Given the description of an element on the screen output the (x, y) to click on. 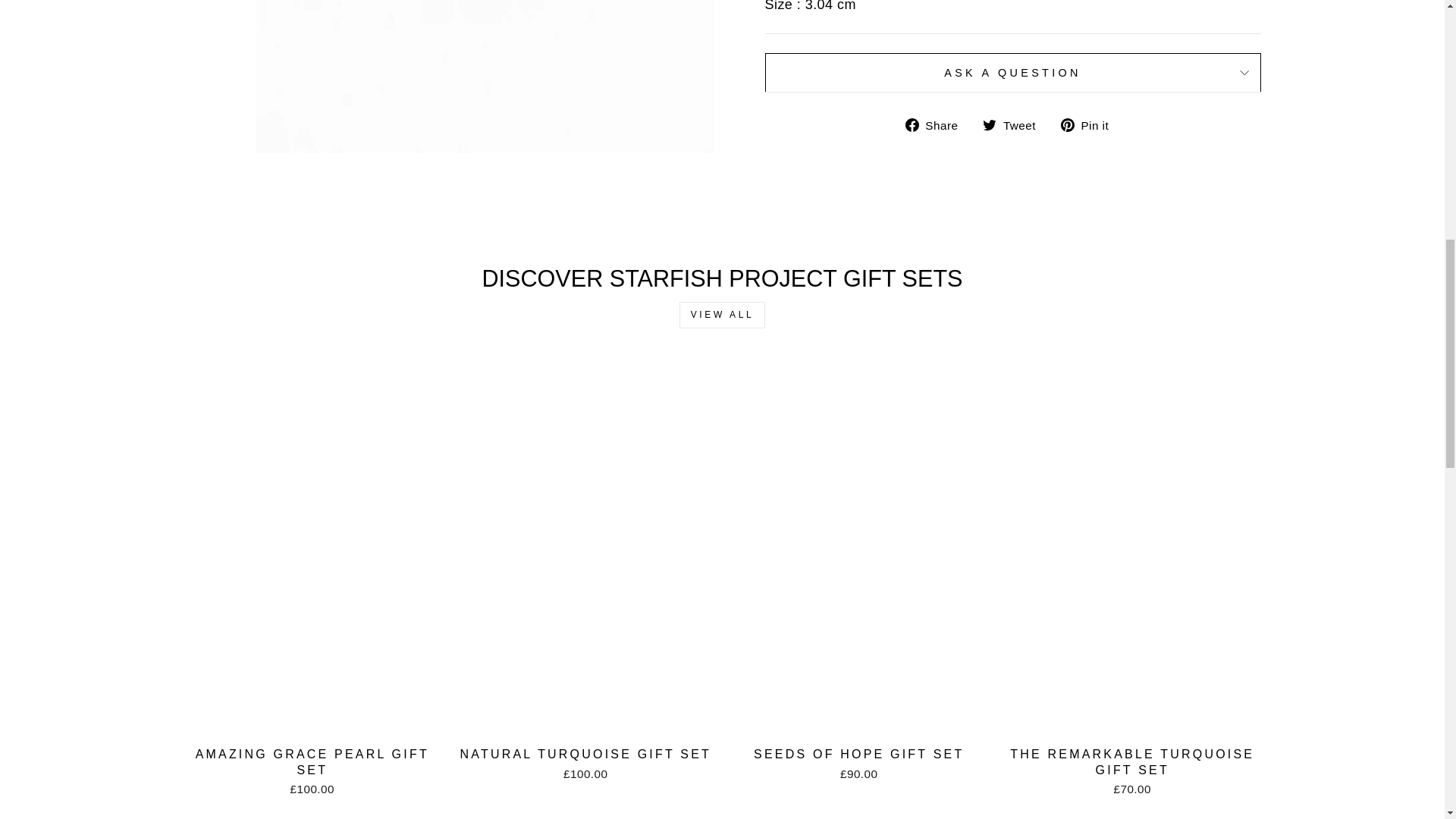
Share on Facebook (937, 124)
Tweet on Twitter (1014, 124)
Pin on Pinterest (1090, 124)
twitter (988, 124)
